Given the description of an element on the screen output the (x, y) to click on. 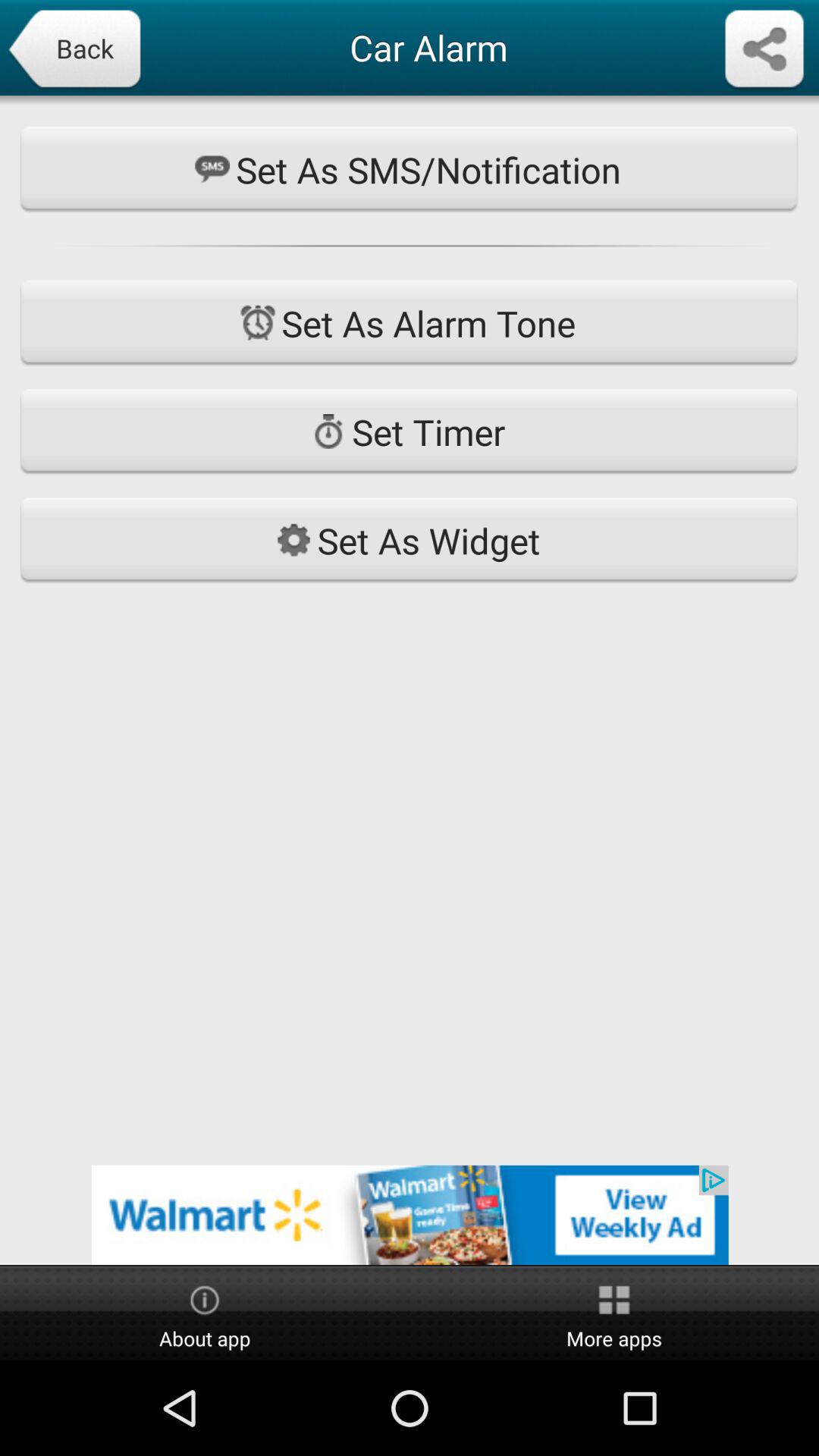
share the page (764, 50)
